Given the description of an element on the screen output the (x, y) to click on. 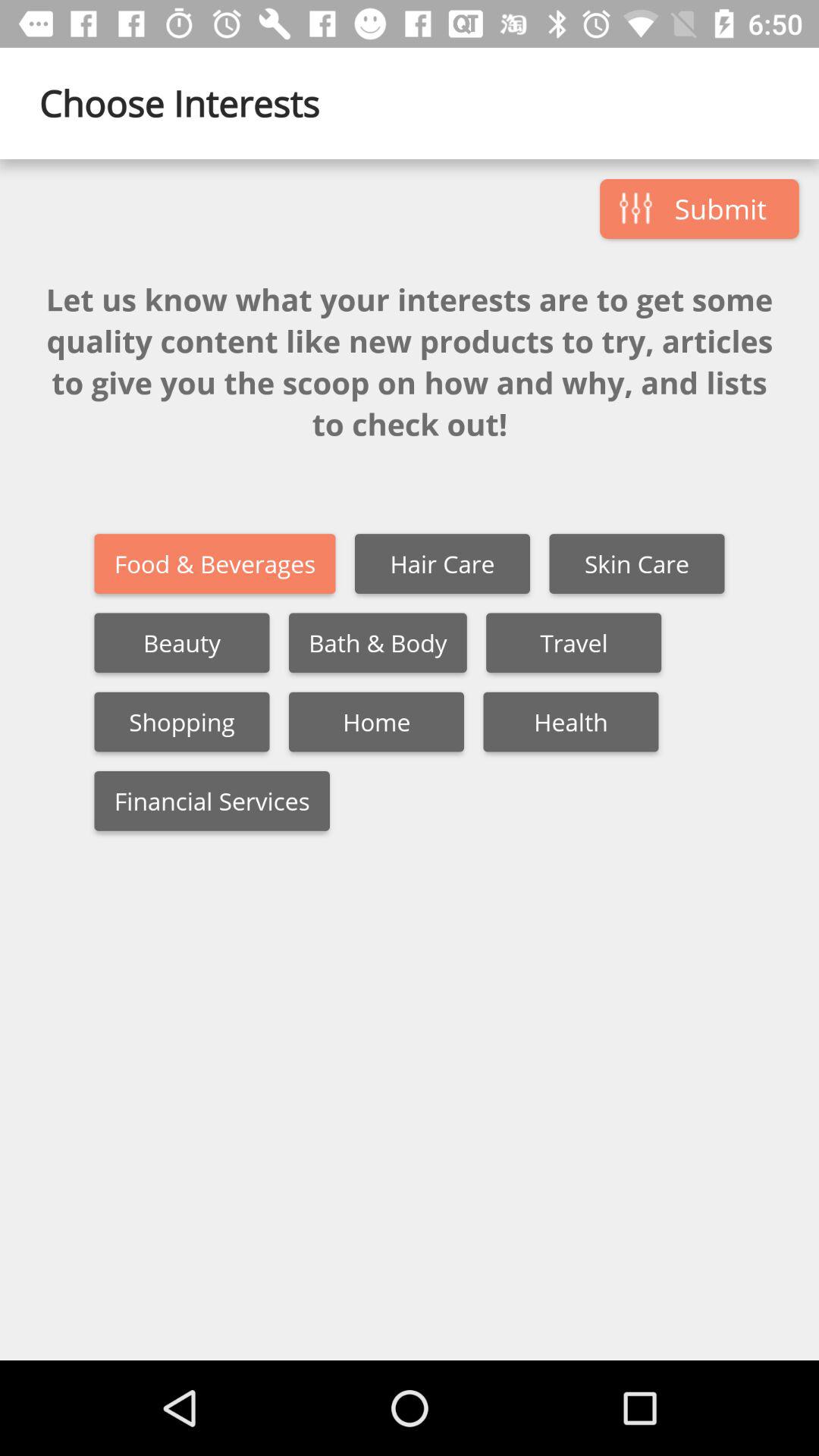
swipe to the bath & body item (377, 642)
